Given the description of an element on the screen output the (x, y) to click on. 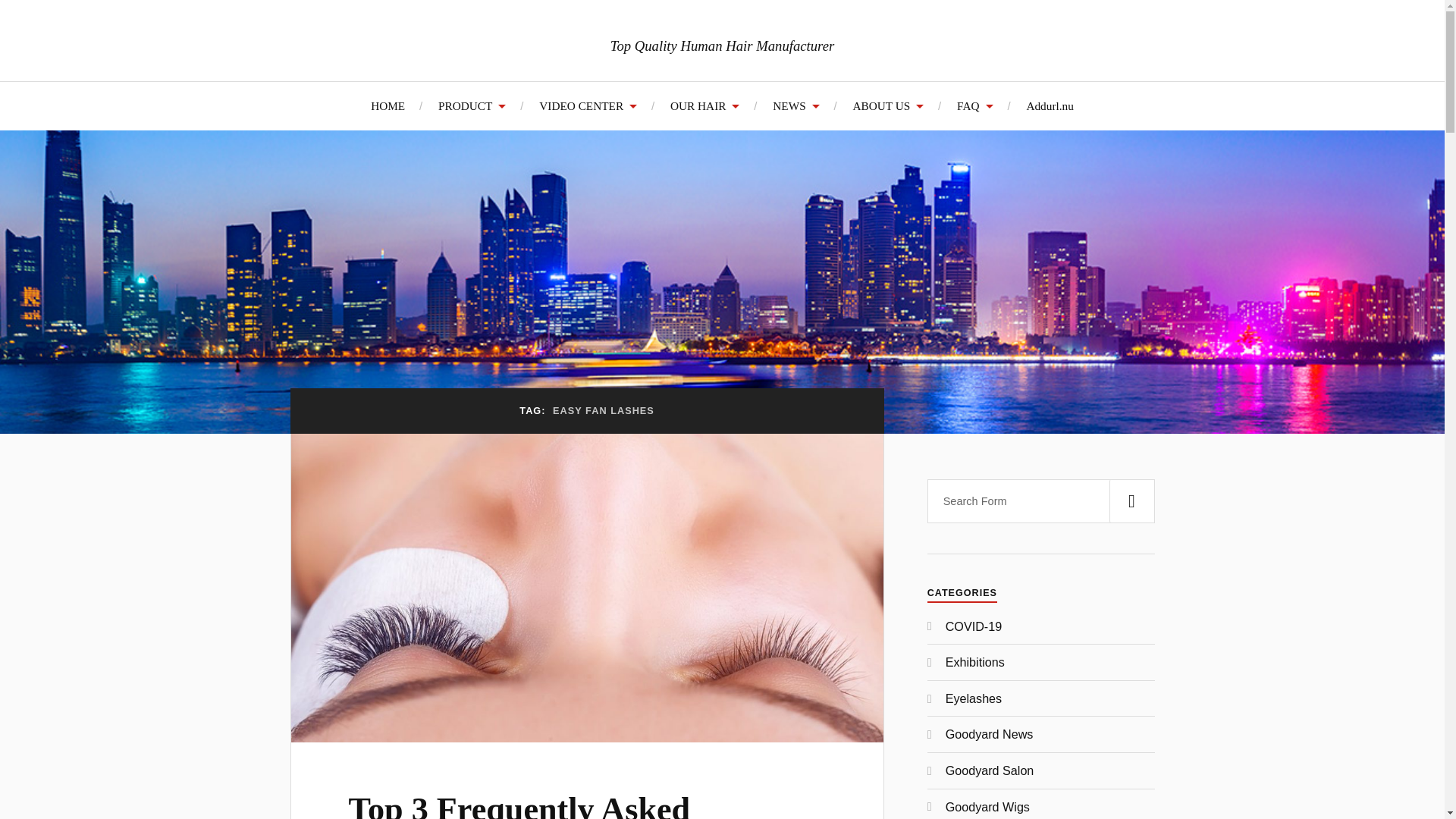
PRODUCT (471, 105)
